Given the description of an element on the screen output the (x, y) to click on. 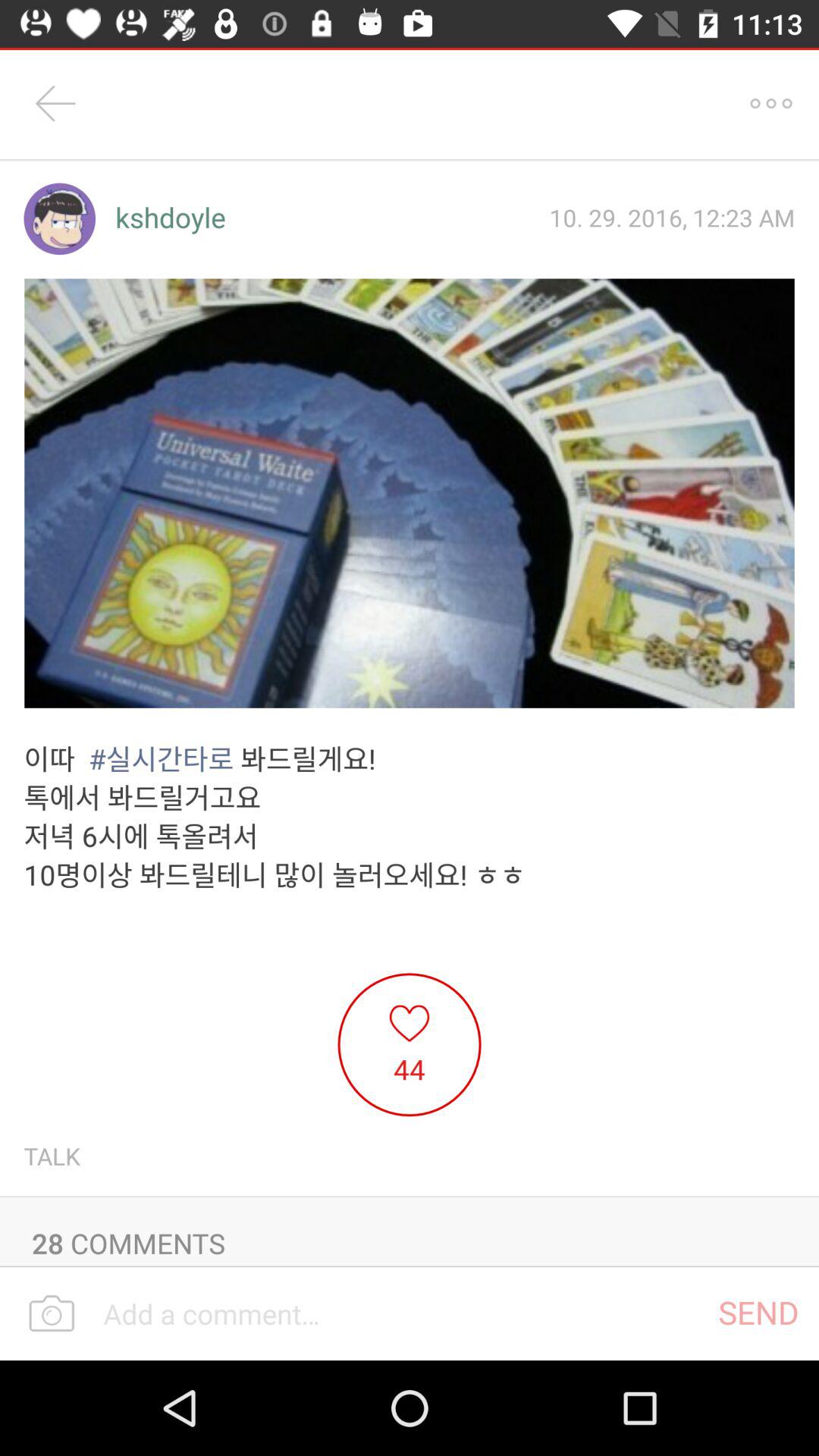
turn on item below the 28 comments (758, 1311)
